Given the description of an element on the screen output the (x, y) to click on. 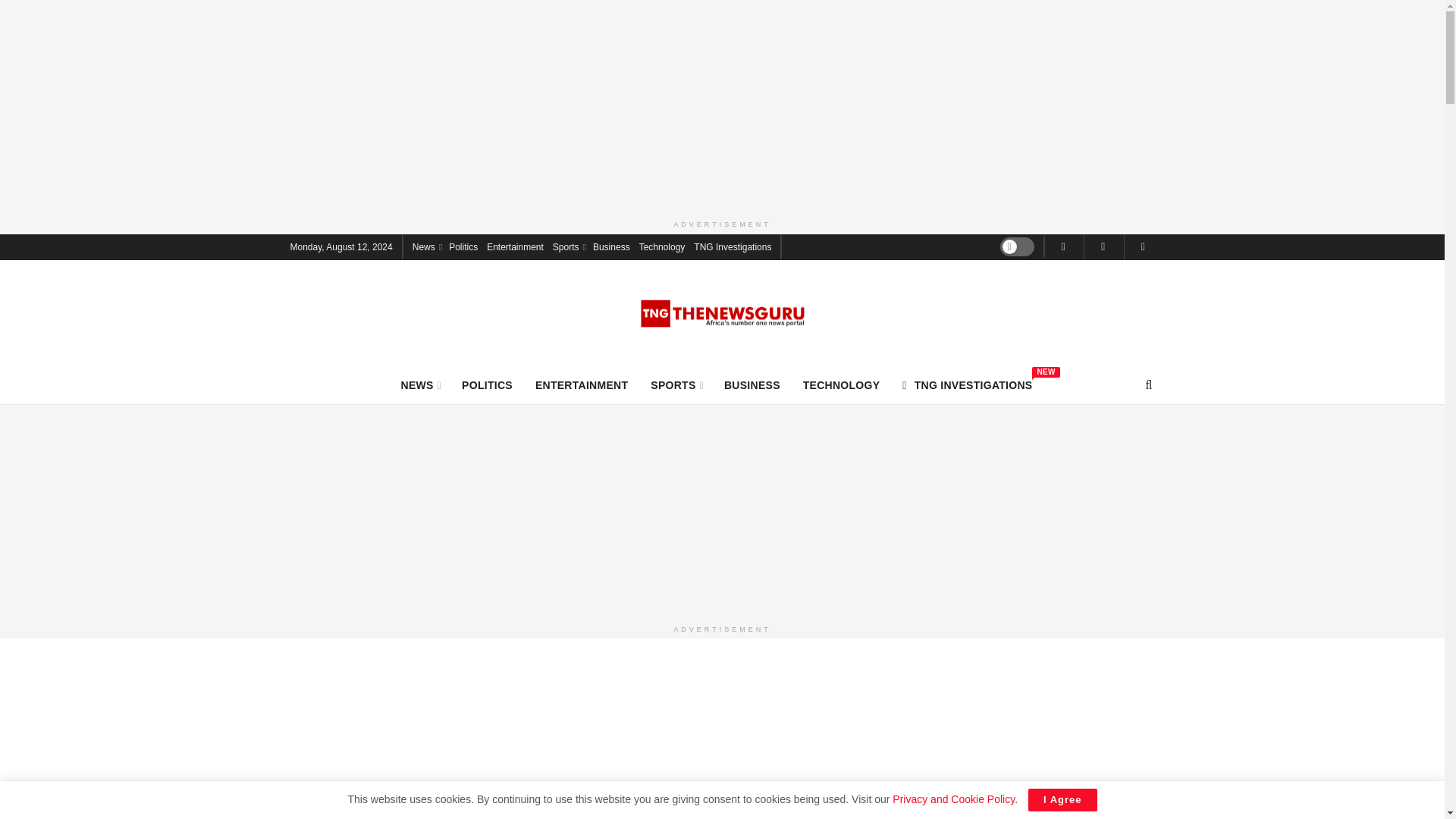
Technology (662, 246)
Business (611, 246)
ENTERTAINMENT (581, 384)
Politics (462, 246)
NEWS (420, 384)
Entertainment (514, 246)
Sports (568, 246)
